Given the description of an element on the screen output the (x, y) to click on. 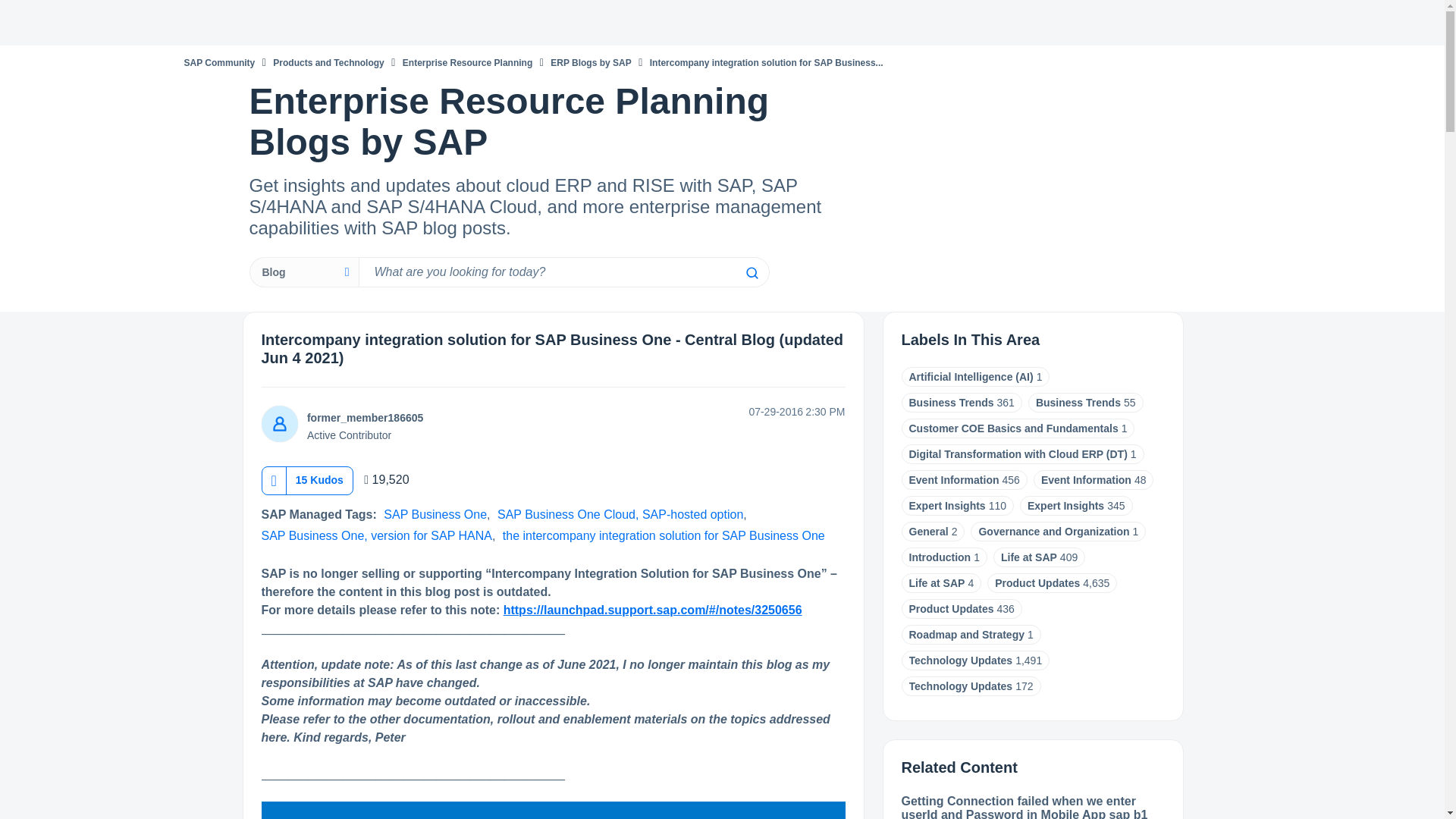
SAP Business One (435, 513)
Search (563, 272)
Posted on (747, 411)
Search Granularity (303, 272)
SAP Business One, version for SAP HANA (376, 535)
Click here to give kudos to this post. (274, 479)
15 Kudos (319, 479)
Search (750, 272)
Search (750, 272)
the intercompany integration solution for SAP Business One (663, 535)
